Given the description of an element on the screen output the (x, y) to click on. 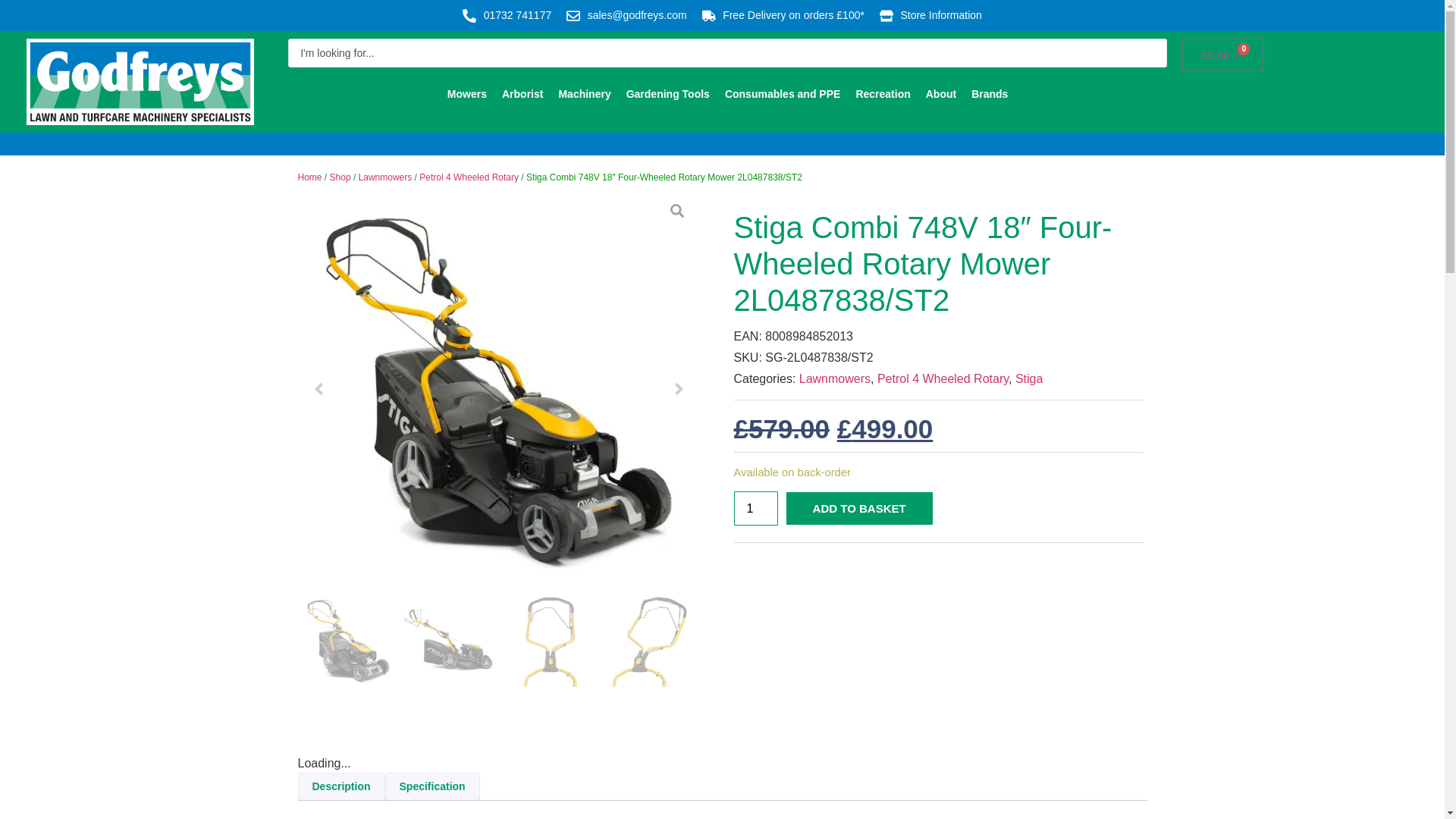
Arborist (522, 94)
Mowers (466, 94)
1 (755, 508)
COMBI748V-01 (347, 640)
Store Information (930, 15)
COLLECTOR548-03 (548, 640)
COLLECTOR548-04 (648, 640)
01732 741177 (507, 15)
COMBI748V-02 (448, 640)
